Given the description of an element on the screen output the (x, y) to click on. 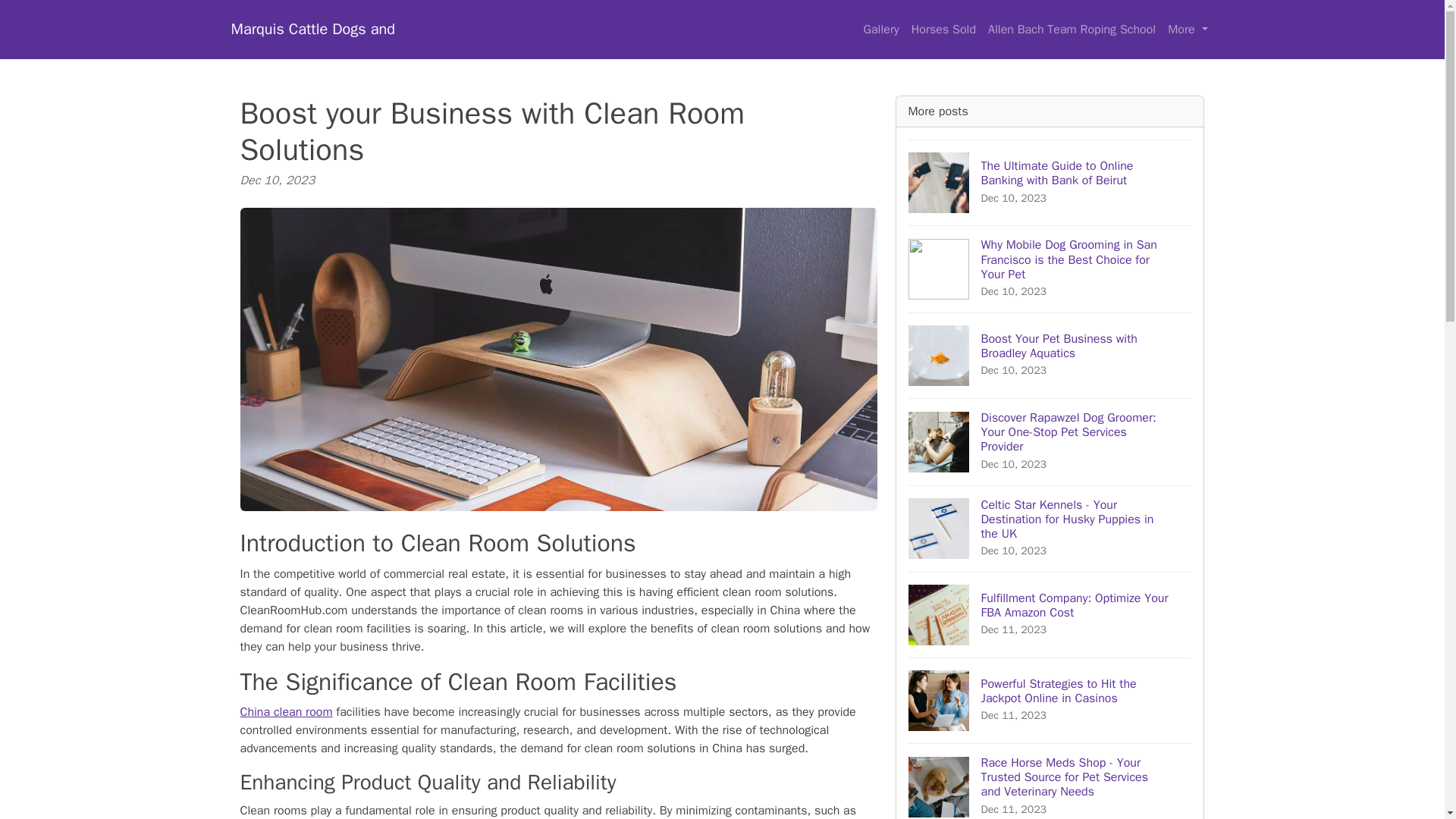
Allen Bach Team Roping School (1071, 29)
Horses Sold (943, 29)
China clean room (285, 711)
Gallery (880, 29)
Marquis Cattle Dogs and (1050, 355)
